Given the description of an element on the screen output the (x, y) to click on. 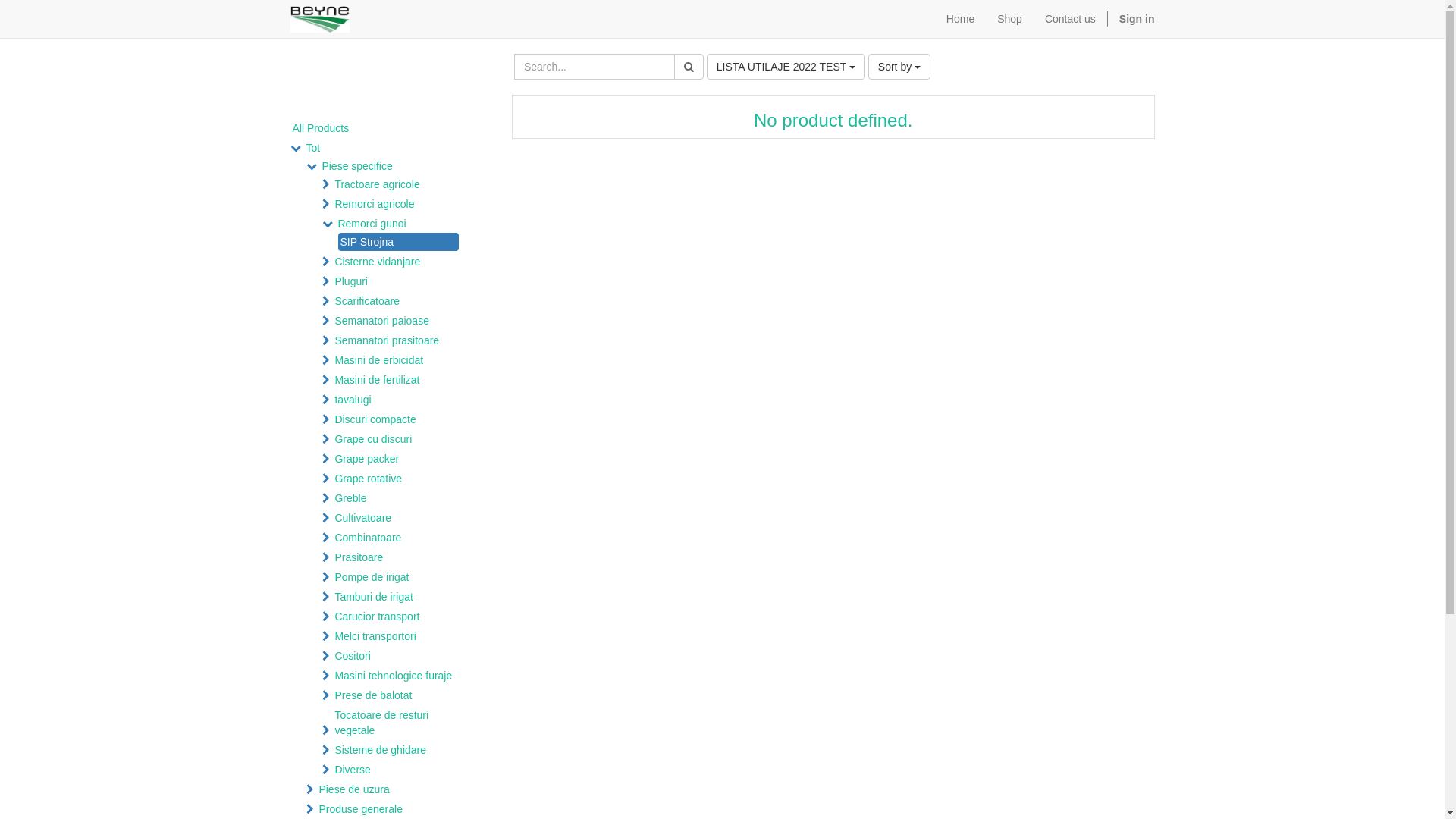
Tocatoare de resturi vegetale Element type: text (398, 722)
Masini de erbicidat Element type: text (398, 360)
Diverse Element type: text (398, 769)
Semanatori prasitoare Element type: text (398, 340)
Shop Element type: text (1009, 18)
Contact us Element type: text (1070, 18)
Masini de fertilizat Element type: text (398, 379)
Remorci agricole Element type: text (398, 203)
Greble Element type: text (398, 498)
Pompe de irigat Element type: text (398, 576)
Combinatoare Element type: text (398, 537)
Semanatori paioase Element type: text (398, 320)
Cultivatoare Element type: text (398, 517)
All Products Element type: text (368, 128)
SIP Strojna Element type: text (398, 241)
BEYNE AGROROM SRL Element type: hover (319, 19)
Carucior transport Element type: text (398, 616)
Prese de balotat Element type: text (398, 695)
Pluguri Element type: text (398, 281)
Masini tehnologice furaje Element type: text (398, 675)
Grape packer Element type: text (398, 458)
Cositori Element type: text (398, 655)
Produse generale Element type: text (389, 809)
Grape cu discuri Element type: text (398, 438)
Tot Element type: text (382, 147)
Discuri compacte Element type: text (398, 419)
tavalugi Element type: text (398, 399)
Tractoare agricole Element type: text (398, 184)
Tamburi de irigat Element type: text (398, 596)
Home Element type: text (960, 18)
LISTA UTILAJE 2022 TEST Element type: text (785, 66)
Cisterne vidanjare Element type: text (398, 261)
Melci transportori Element type: text (398, 636)
Sort by Element type: text (899, 66)
Scarificatoare Element type: text (398, 300)
Piese de uzura Element type: text (389, 789)
Remorci gunoi Element type: text (401, 223)
Grape rotative Element type: text (398, 478)
Sign in Element type: text (1136, 18)
Piese specifice Element type: text (392, 165)
Sisteme de ghidare Element type: text (398, 749)
Prasitoare Element type: text (398, 557)
